Given the description of an element on the screen output the (x, y) to click on. 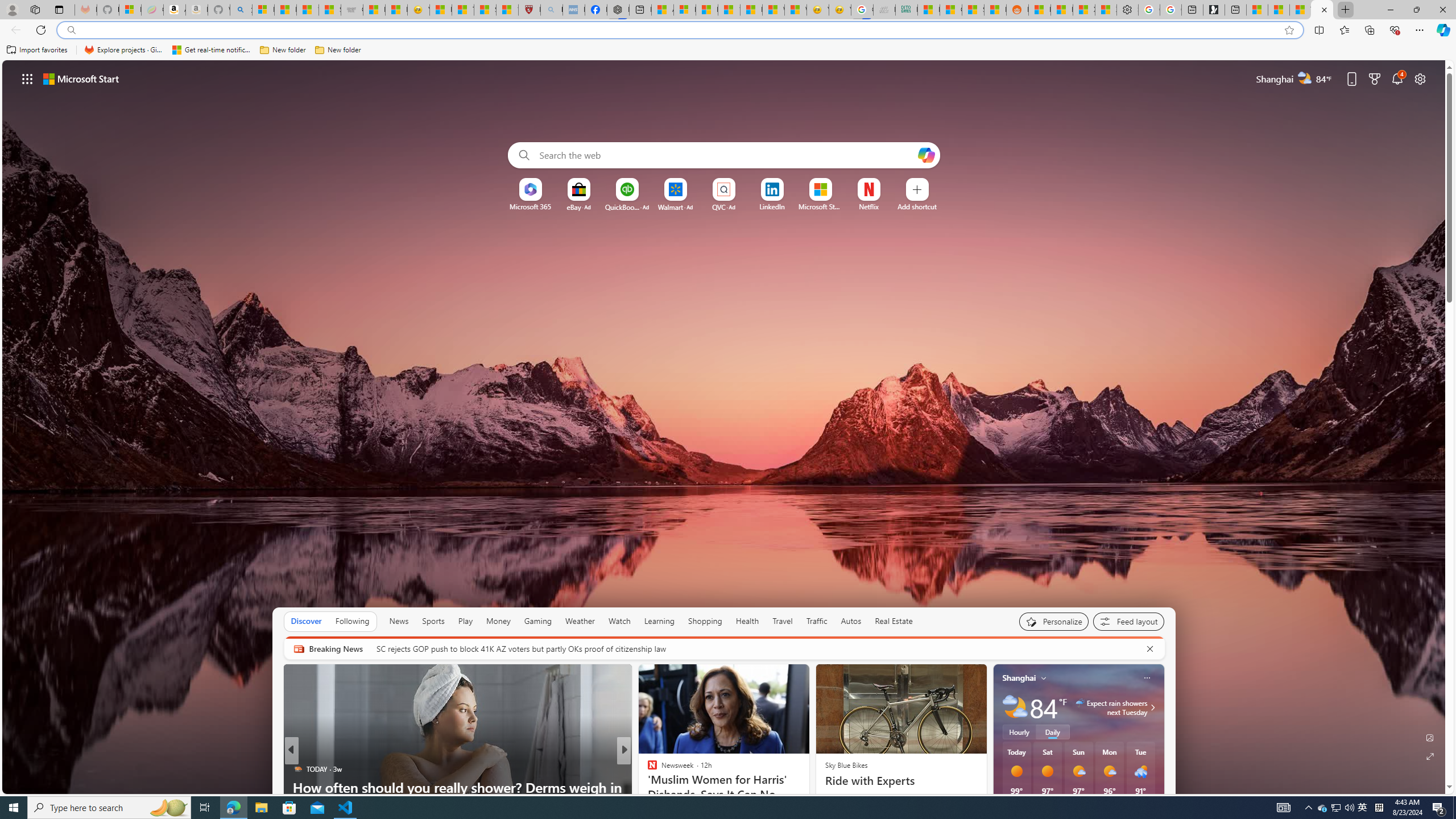
Shopping (705, 621)
Expand background (1430, 756)
Personalize your feed" (1054, 621)
The Kitchn (647, 768)
Sports (432, 621)
MSNBC - MSN (928, 9)
Science - MSN (484, 9)
